Given the description of an element on the screen output the (x, y) to click on. 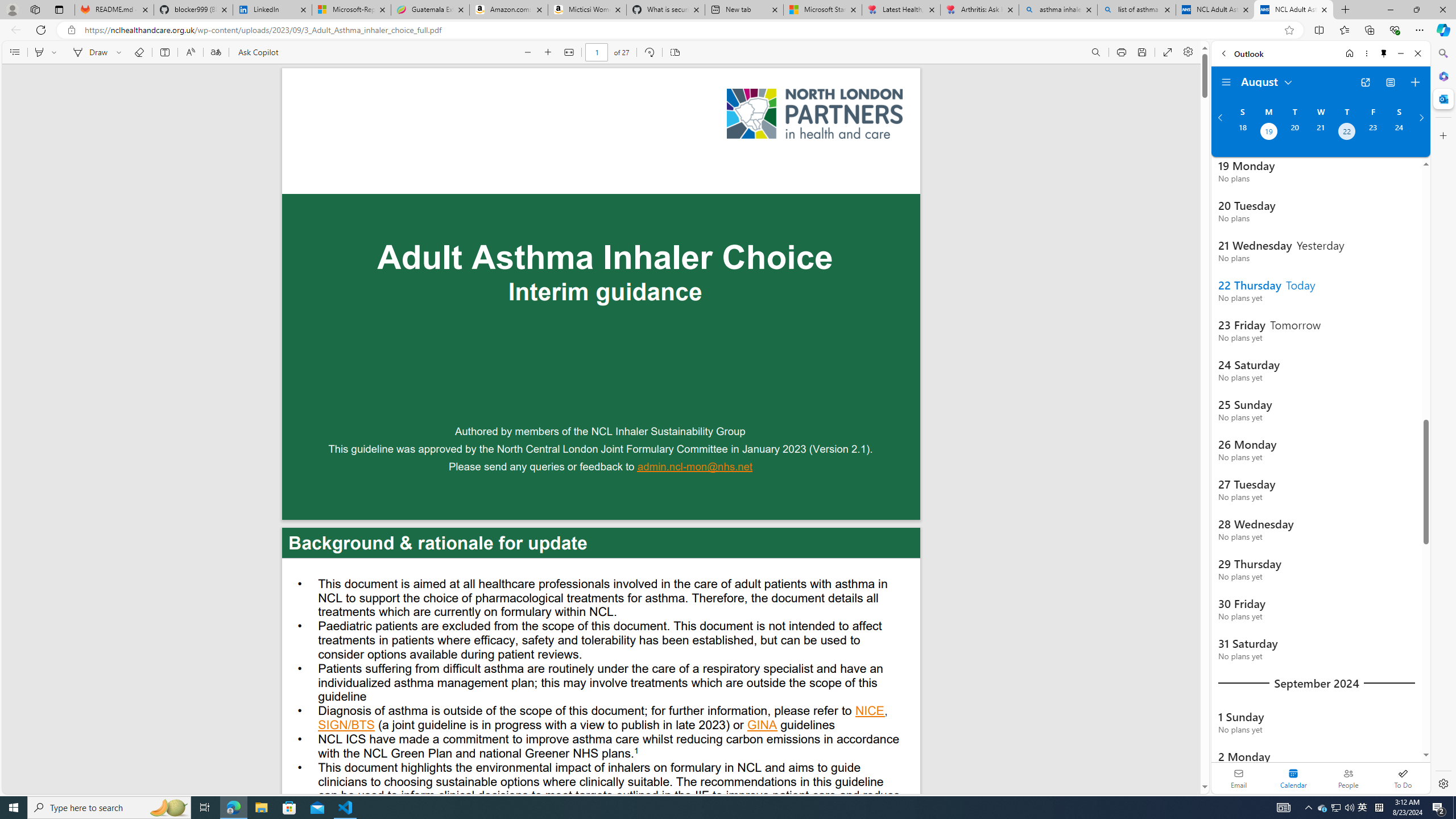
Select ink properties (120, 52)
admin.ncl-mon@nhs.net (694, 467)
Add text (164, 52)
asthma inhaler - Search (1057, 9)
Email (1238, 777)
Find (Ctrl + F) (1096, 52)
